Given the description of an element on the screen output the (x, y) to click on. 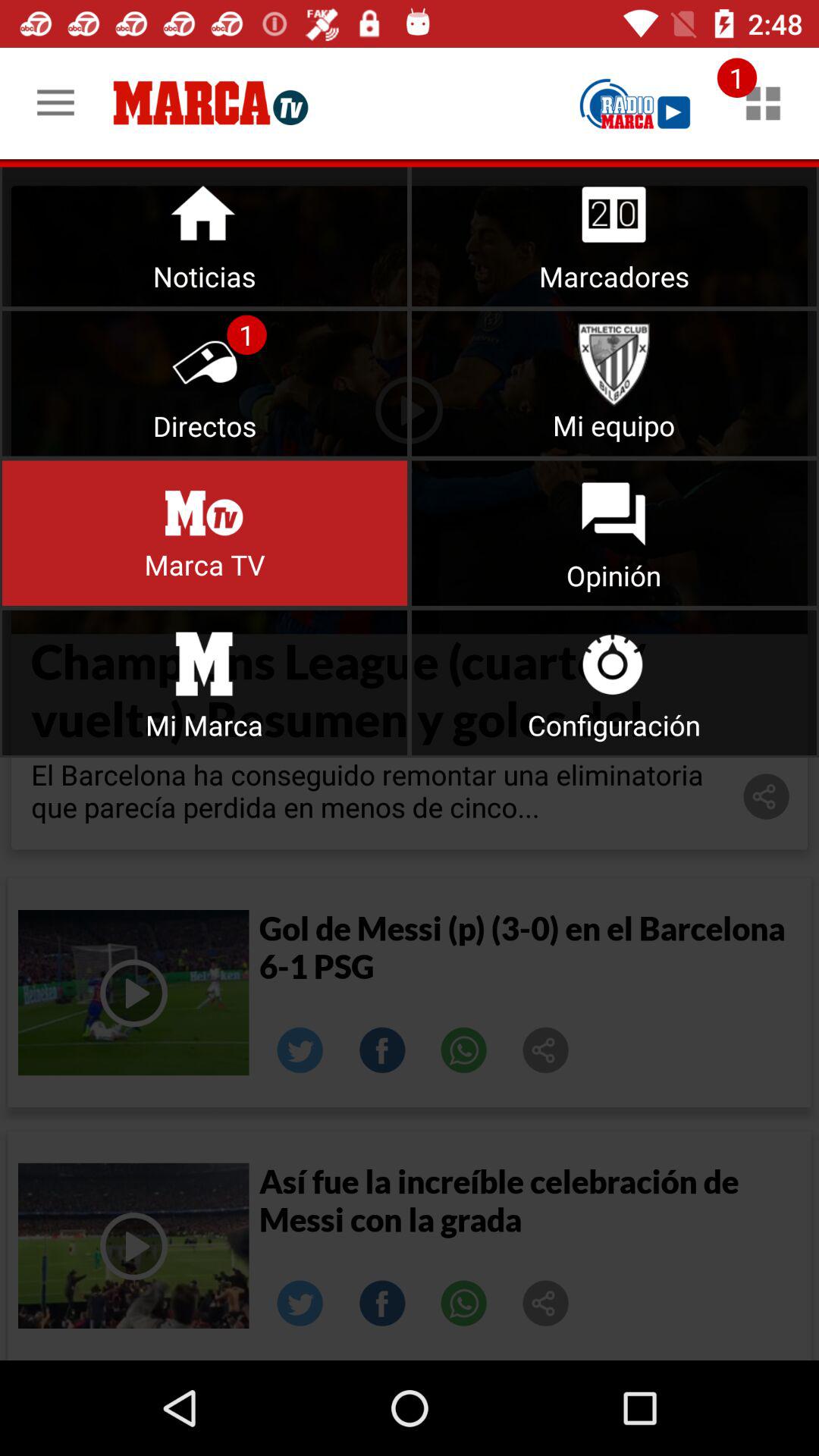
share to twitter (300, 1050)
